Given the description of an element on the screen output the (x, y) to click on. 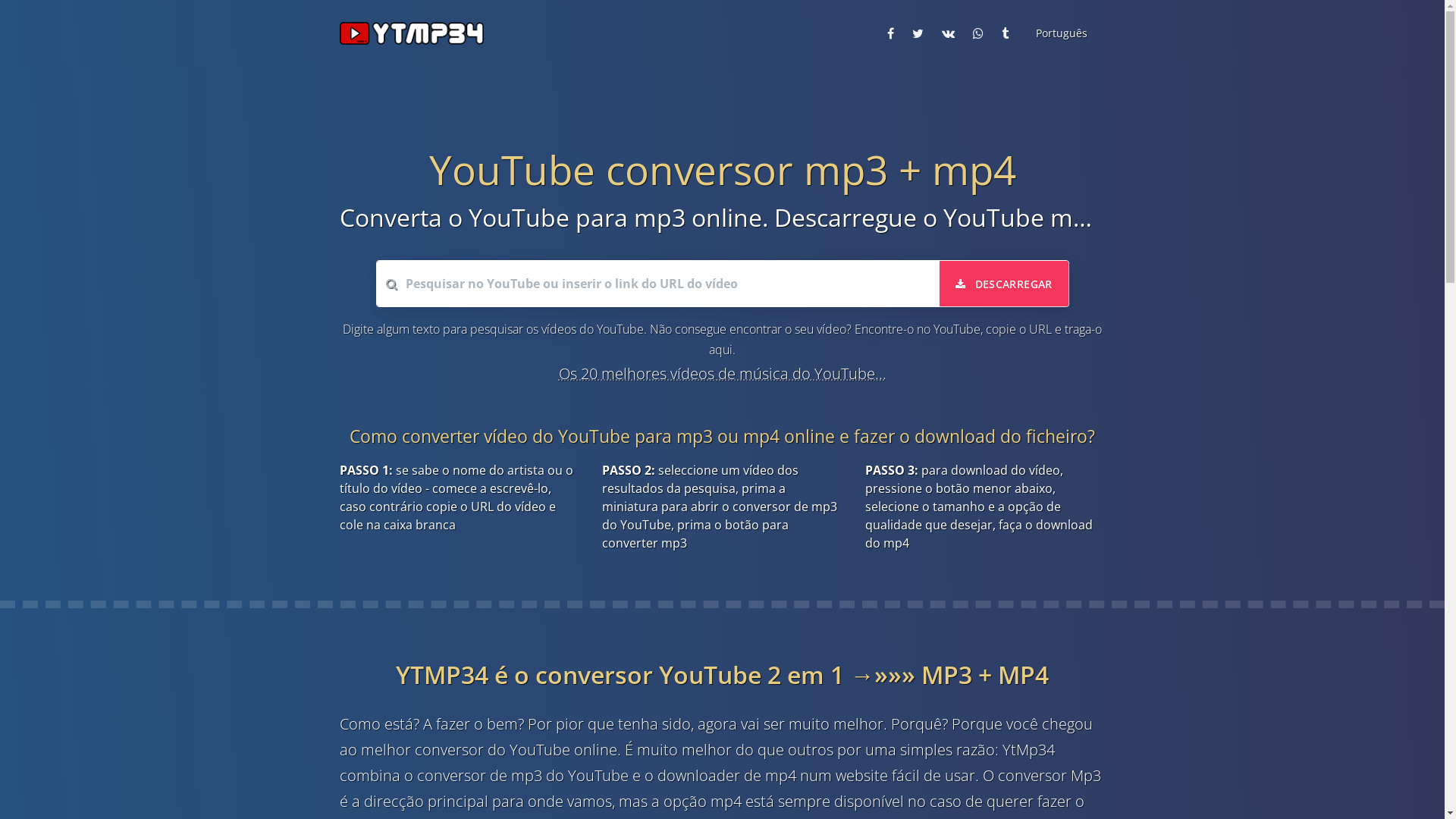
Compartilhar em Twitter Element type: hover (916, 33)
DESCARREGAR Element type: text (1003, 283)
Compartilhar em VK Element type: hover (947, 33)
Compartilhar em Whatsapp Element type: hover (977, 33)
Compartilhar em Facebook Element type: hover (890, 33)
Compartilhar em Tumblr Element type: hover (1003, 33)
